Given the description of an element on the screen output the (x, y) to click on. 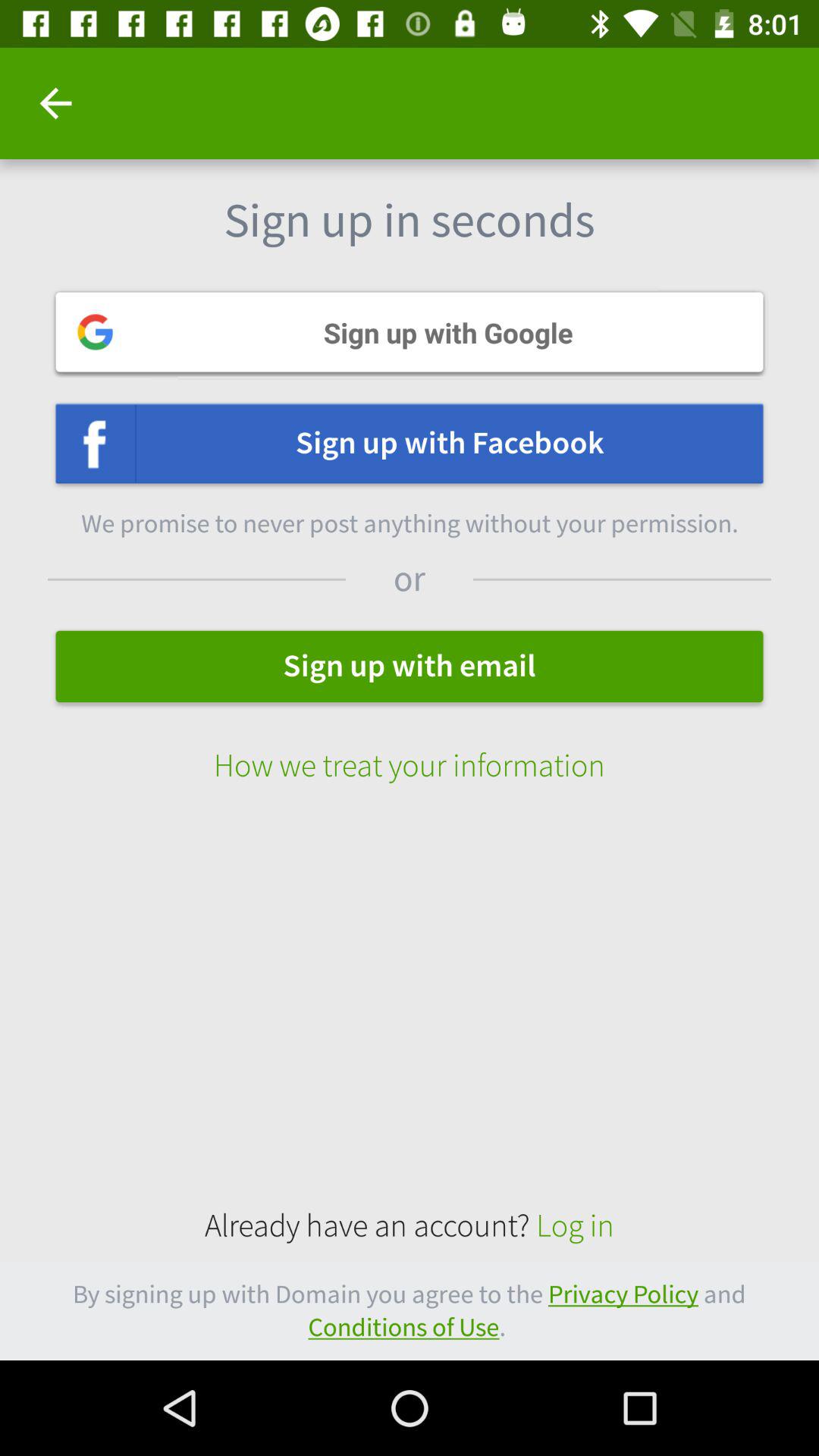
press the item below the already have an item (409, 1311)
